Given the description of an element on the screen output the (x, y) to click on. 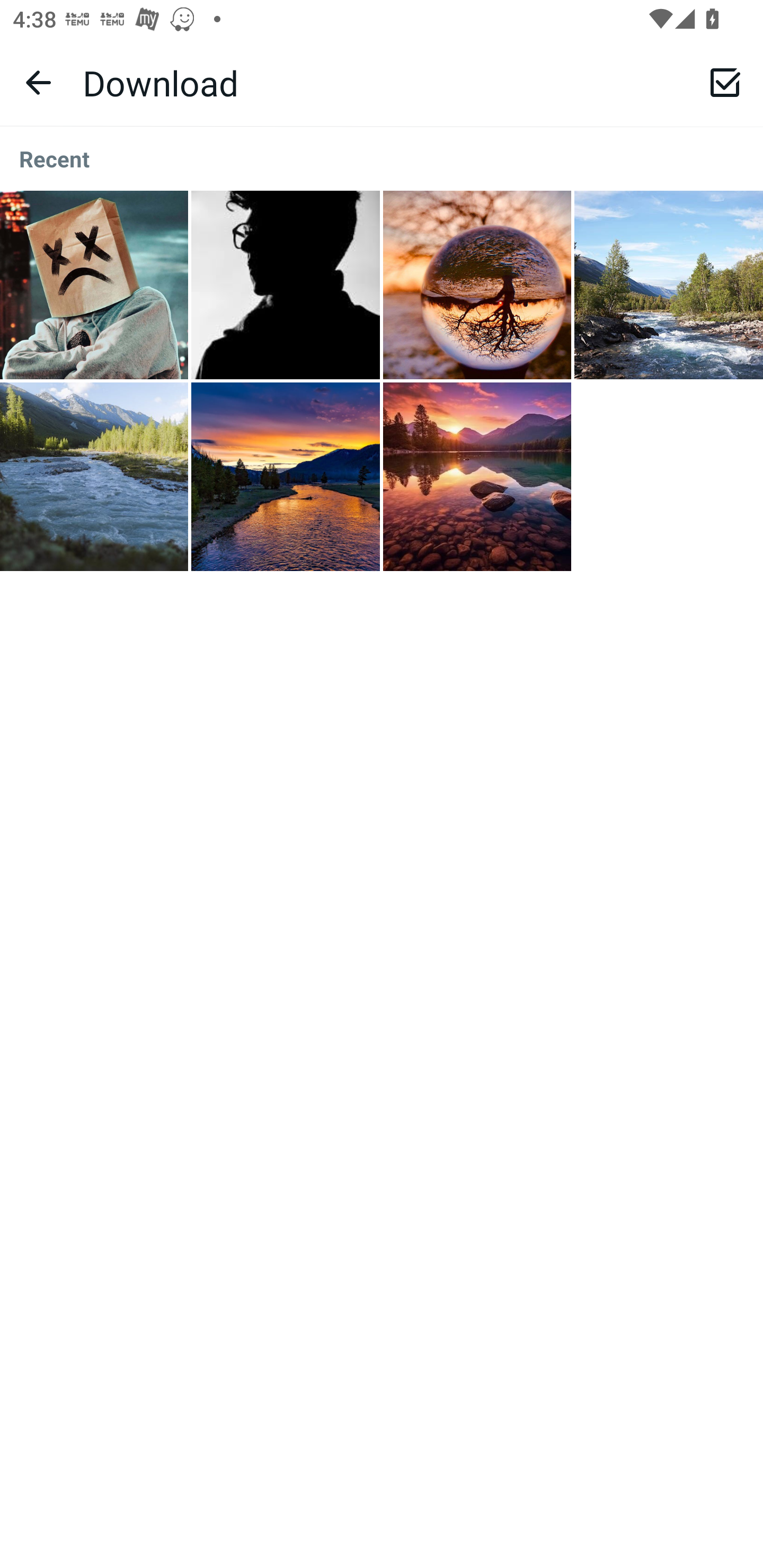
Navigate up (38, 82)
Select multiple (724, 81)
Recent (381, 159)
Photo (94, 285)
Photo (285, 285)
Photo (477, 285)
Photo (668, 285)
Photo (94, 476)
Photo (285, 476)
Photo (477, 476)
